Given the description of an element on the screen output the (x, y) to click on. 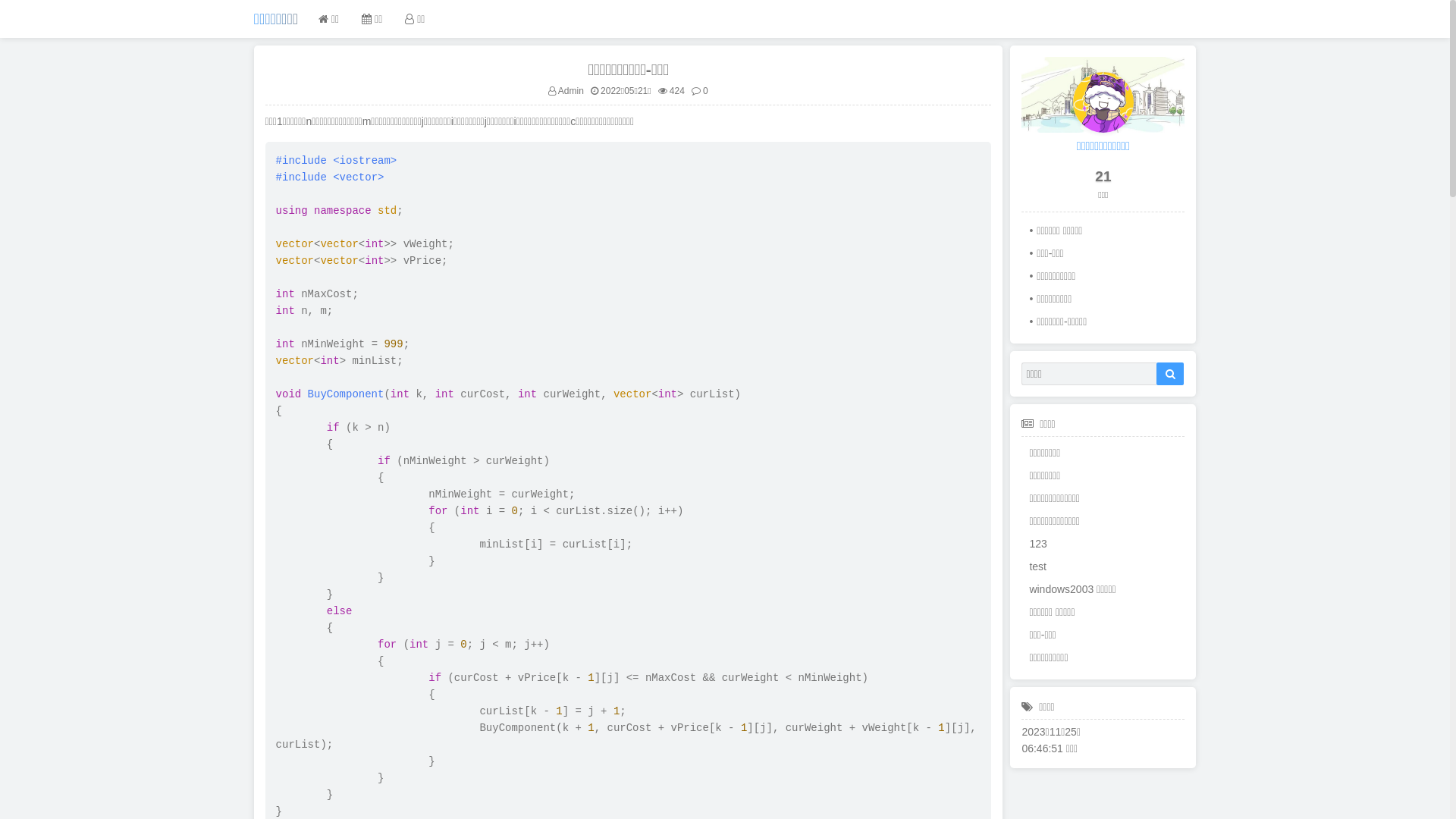
123 Element type: text (1104, 542)
test Element type: text (1104, 565)
